Given the description of an element on the screen output the (x, y) to click on. 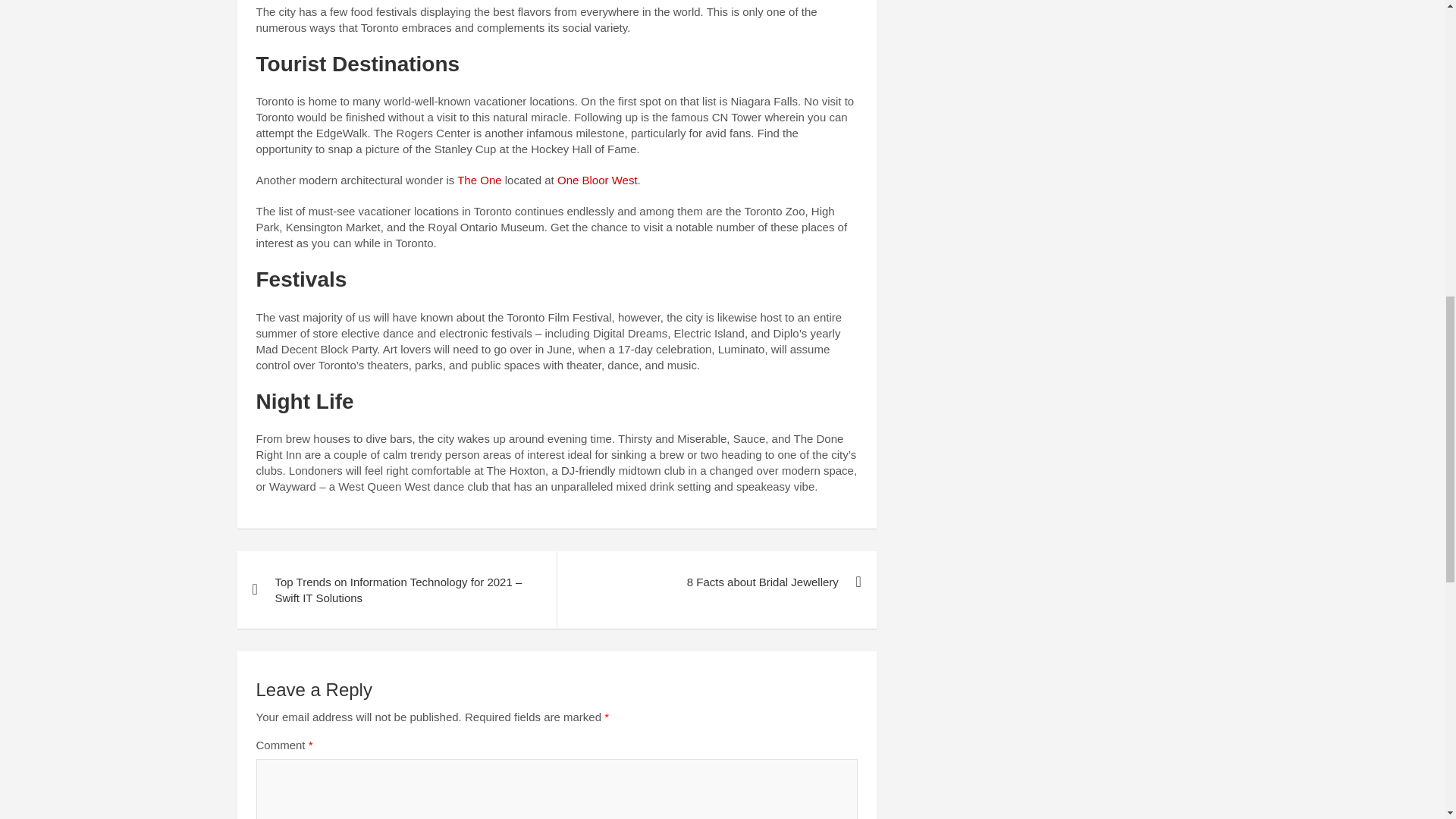
One Bloor West (597, 179)
The One (478, 179)
8 Facts about Bridal Jewellery (716, 581)
